Given the description of an element on the screen output the (x, y) to click on. 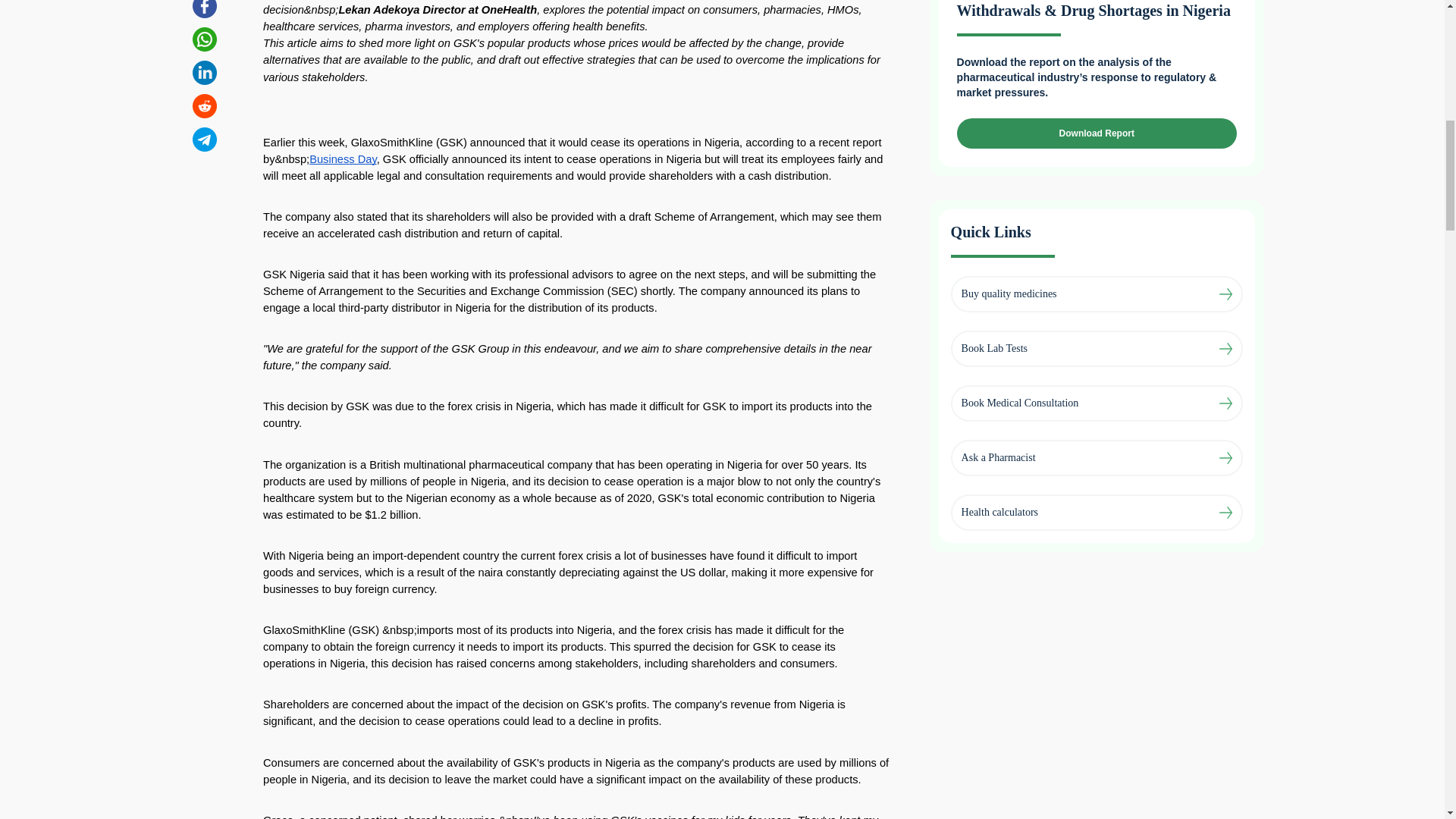
Book Medical Consultation (1019, 403)
Health calculators (999, 512)
Ask a Pharmacist (997, 458)
Book Lab Tests (993, 348)
Business Day (342, 158)
Buy quality medicines (1008, 294)
Download Report (1096, 132)
